Given the description of an element on the screen output the (x, y) to click on. 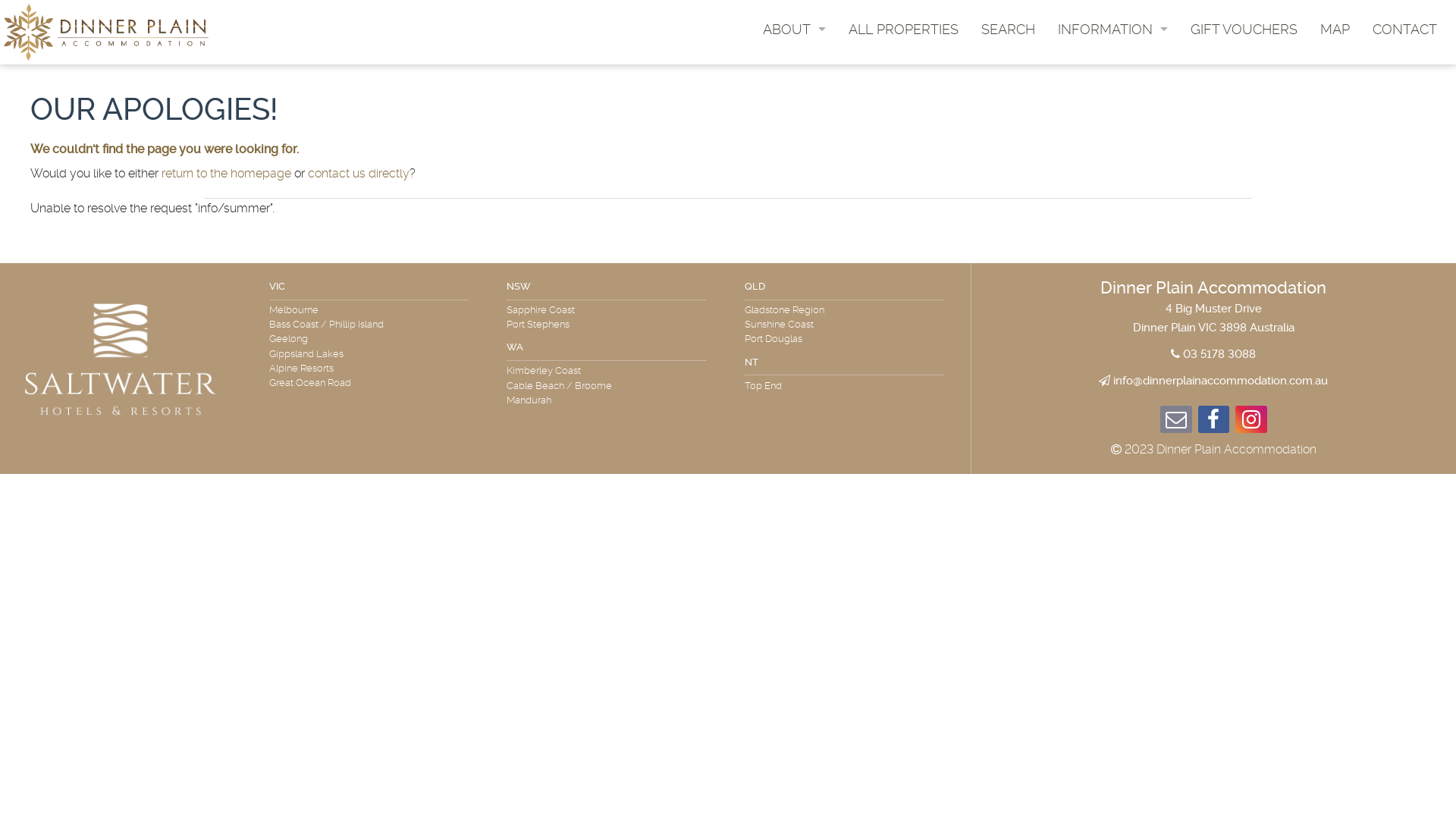
Instagram Element type: hover (1251, 423)
Gippsland Lakes Element type: text (310, 353)
Sapphire Coast Element type: text (544, 309)
Kimberley Coast Element type: text (547, 370)
CONTACT Element type: text (1404, 29)
return to the homepage Element type: text (226, 173)
GUEST INFORMATION Element type: text (794, 54)
Port Douglas Element type: text (776, 338)
Sunshine Coast Element type: text (782, 323)
GIFT VOUCHERS Element type: text (1243, 29)
info@dinnerplainaccommodation.com.au Element type: text (1220, 380)
PET FRIENDLY ACCOMMODATION Element type: text (1112, 107)
Melbourne Element type: text (297, 309)
Great Ocean Road Element type: text (313, 382)
Facebook Element type: hover (1214, 423)
ALL PROPERTIES Element type: text (903, 29)
OWNER PORTAL Element type: text (794, 72)
contact us directly Element type: text (358, 173)
INFORMATION Element type: text (1112, 29)
Mandurah Element type: text (532, 399)
Cable Beach / Broome Element type: text (562, 385)
WINTER Element type: text (1112, 72)
Top End Element type: text (766, 385)
SEARCH Element type: text (1007, 29)
EMPLOYMENT Element type: text (794, 107)
Alpine Resorts Element type: text (305, 367)
Geelong Element type: text (292, 338)
FAQ Element type: text (1112, 125)
ABOUT Element type: text (794, 29)
WEATHER Element type: text (1112, 143)
03 5178 3088 Element type: text (1219, 353)
Port Stephens Element type: text (541, 323)
PROPERTY MANAGEMENT Element type: text (794, 90)
Contact Us Element type: hover (1176, 423)
Bass Coast / Phillip Island Element type: text (330, 323)
SKI HIRE Element type: text (1112, 90)
MAP Element type: text (1334, 29)
SUMMER Element type: text (1112, 54)
Gladstone Region Element type: text (787, 309)
